Given the description of an element on the screen output the (x, y) to click on. 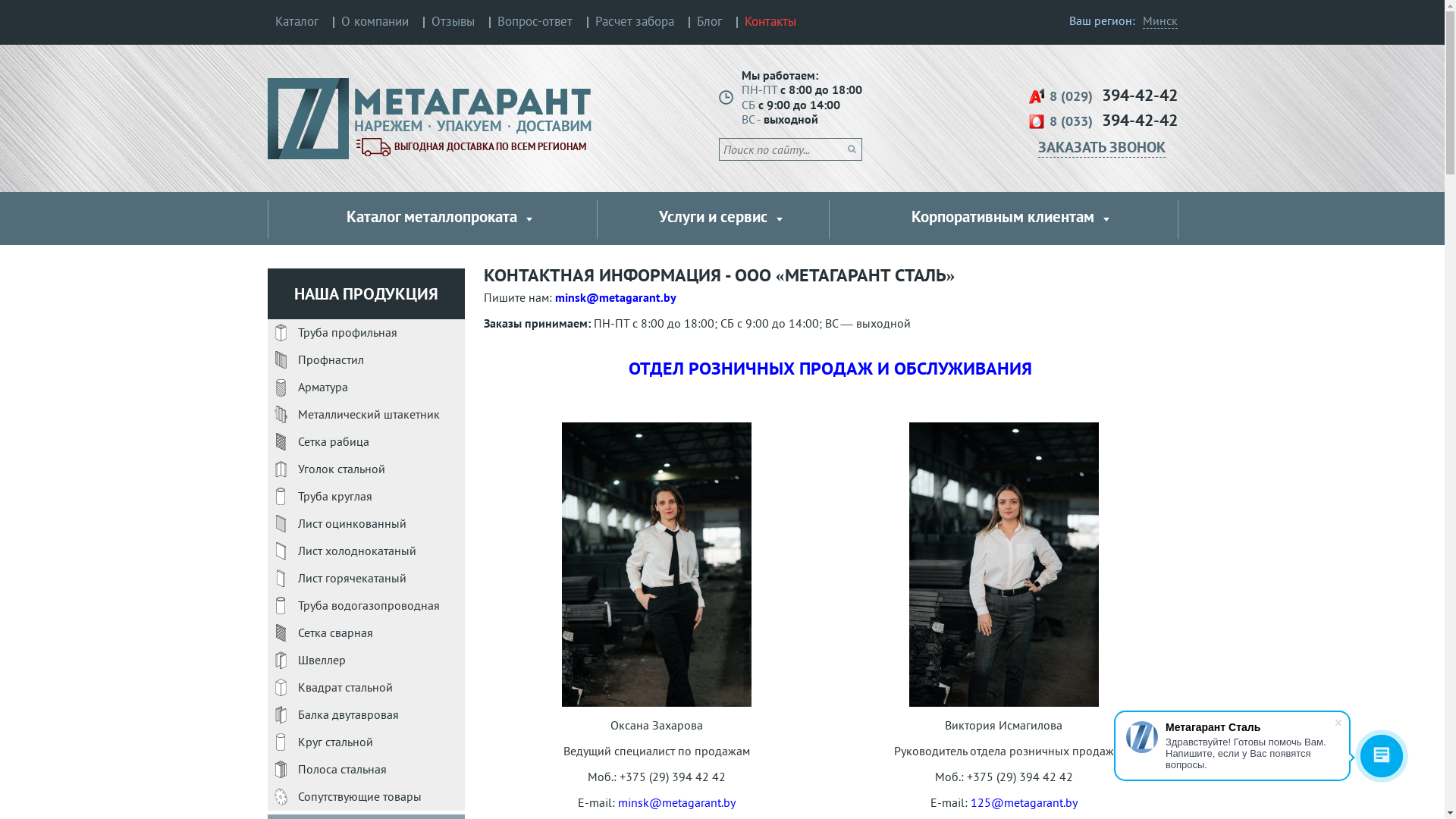
8 (029)  394-42-42 Element type: text (1101, 96)
minsk@metagarant.by Element type: text (676, 801)
minsk@metagarant.by Element type: text (615, 296)
8 (033)  394-42-42 Element type: text (1101, 121)
125@metagarant.by Element type: text (1023, 801)
